Given the description of an element on the screen output the (x, y) to click on. 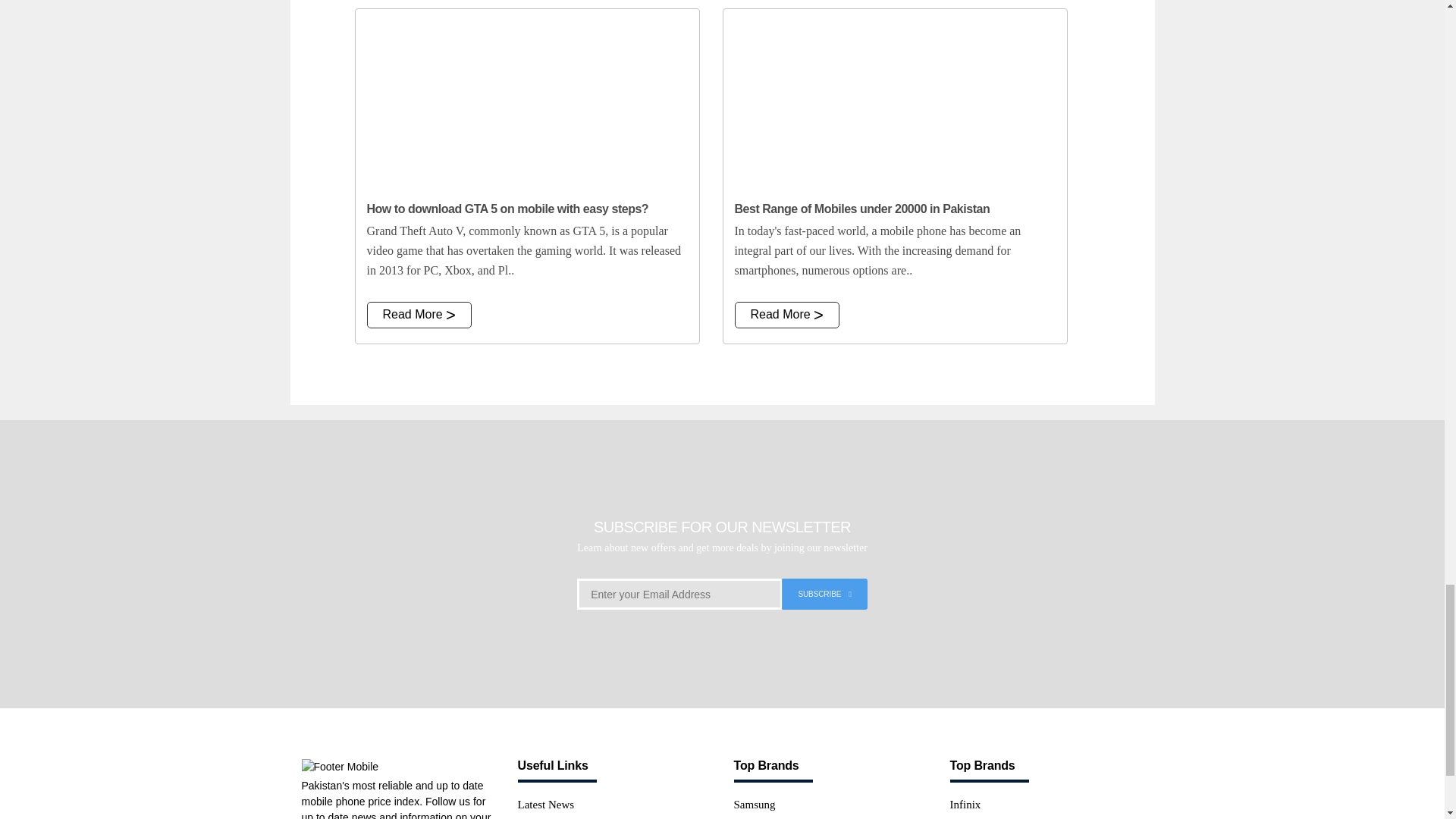
How to download GTA 5 on mobile with easy steps? (526, 99)
Best Range of Mobiles under 20000 in Pakistan (895, 99)
